Given the description of an element on the screen output the (x, y) to click on. 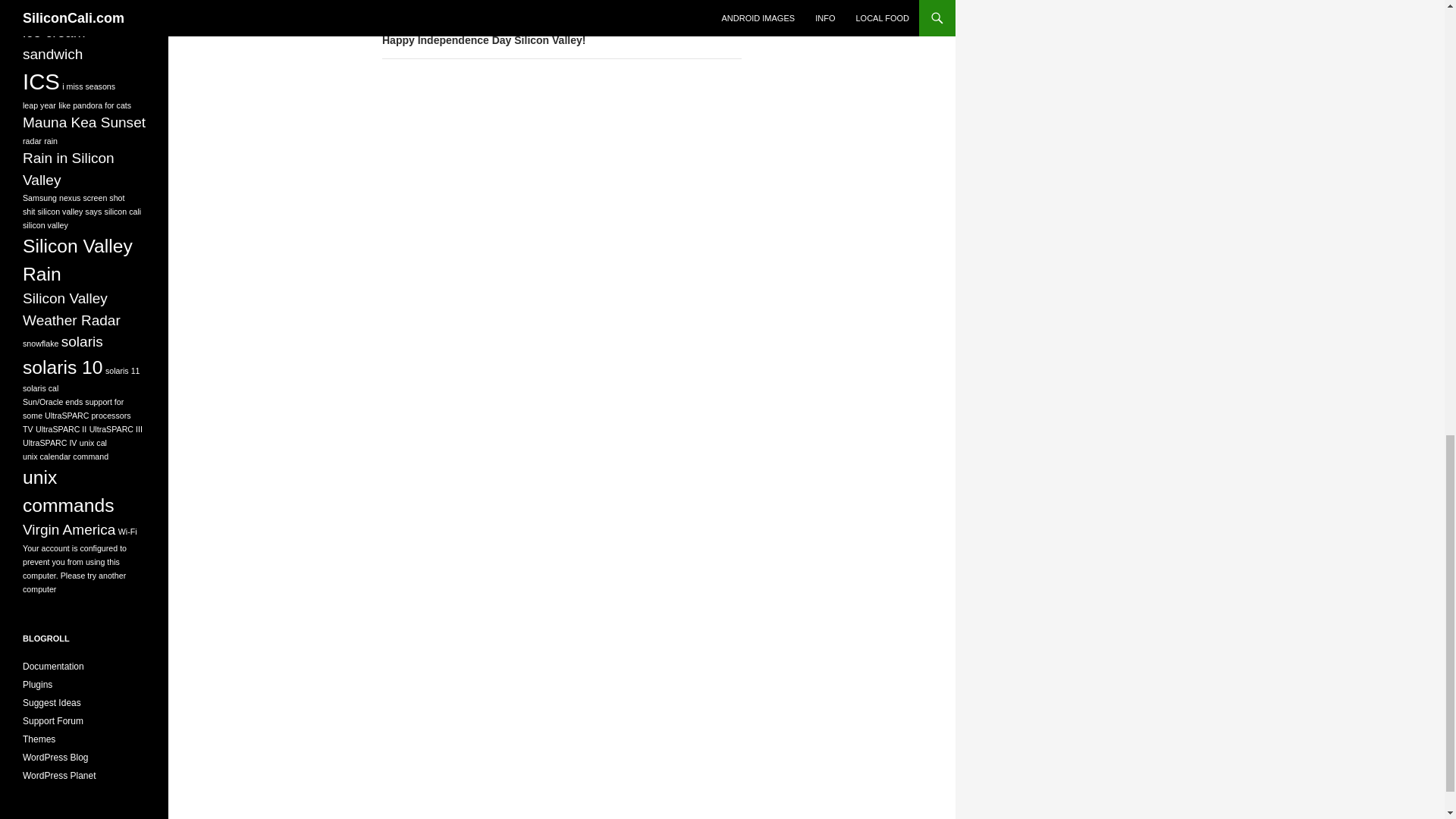
google sky (57, 10)
i miss seasons (561, 2)
ICS (561, 31)
ice cream sandwich (88, 85)
